Given the description of an element on the screen output the (x, y) to click on. 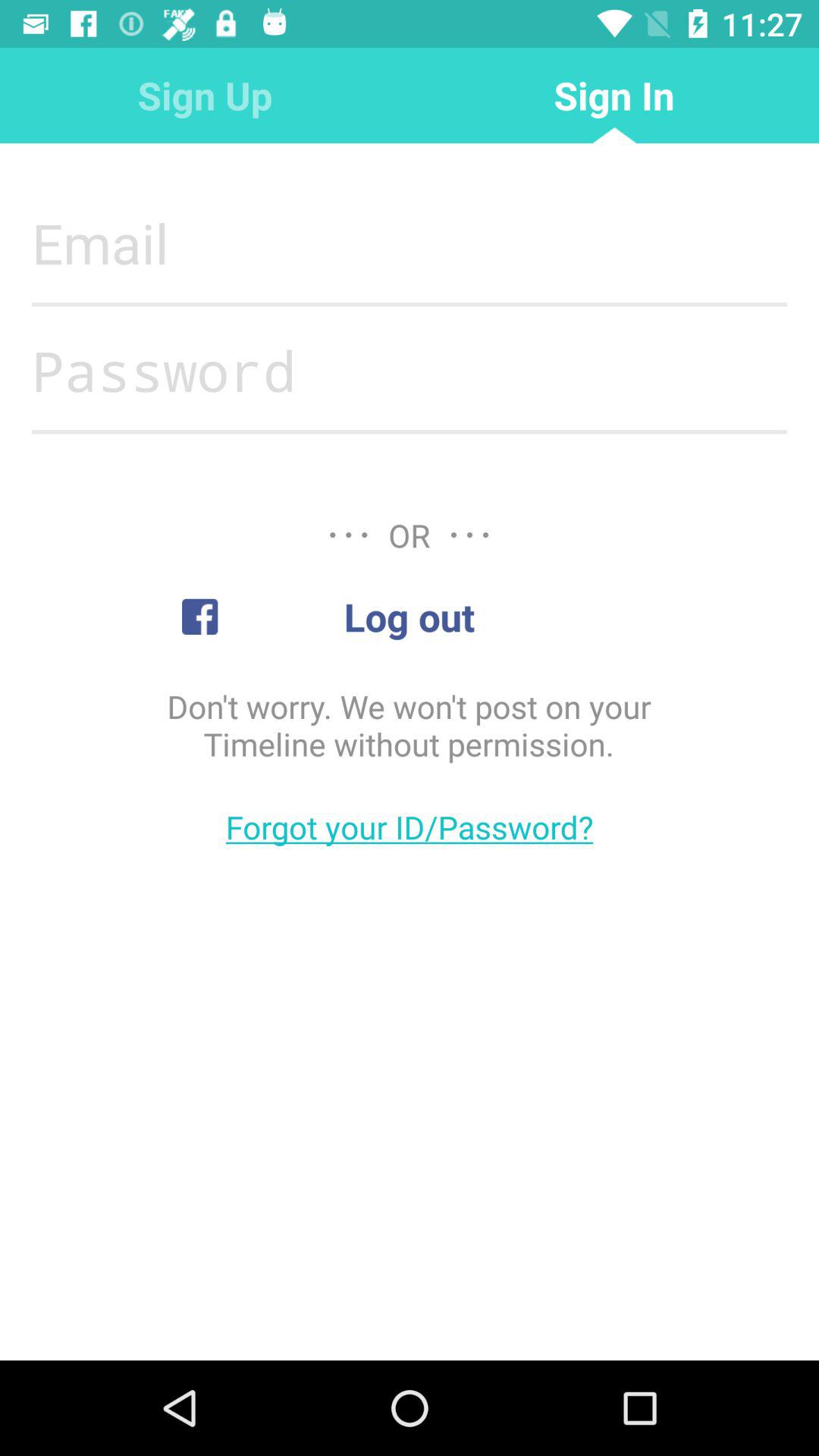
open the item below don t worry (409, 826)
